Given the description of an element on the screen output the (x, y) to click on. 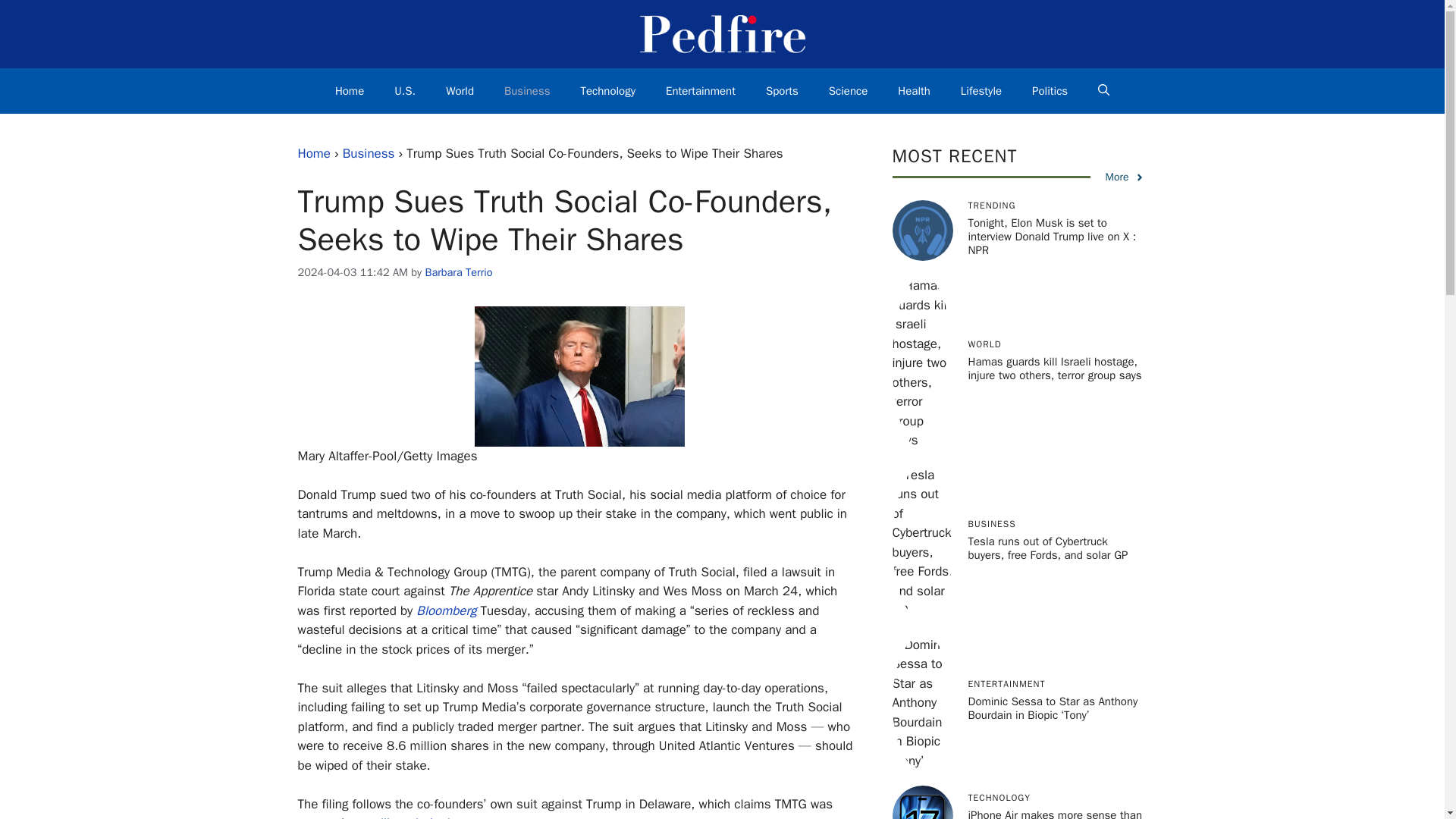
Barbara Terrio (458, 272)
dilute their shares (428, 816)
Bloomberg (446, 610)
View all posts by Barbara Terrio (458, 272)
Politics (1049, 90)
U.S. (404, 90)
Home (349, 90)
Lifestyle (980, 90)
Home (313, 153)
Sports (782, 90)
